Given the description of an element on the screen output the (x, y) to click on. 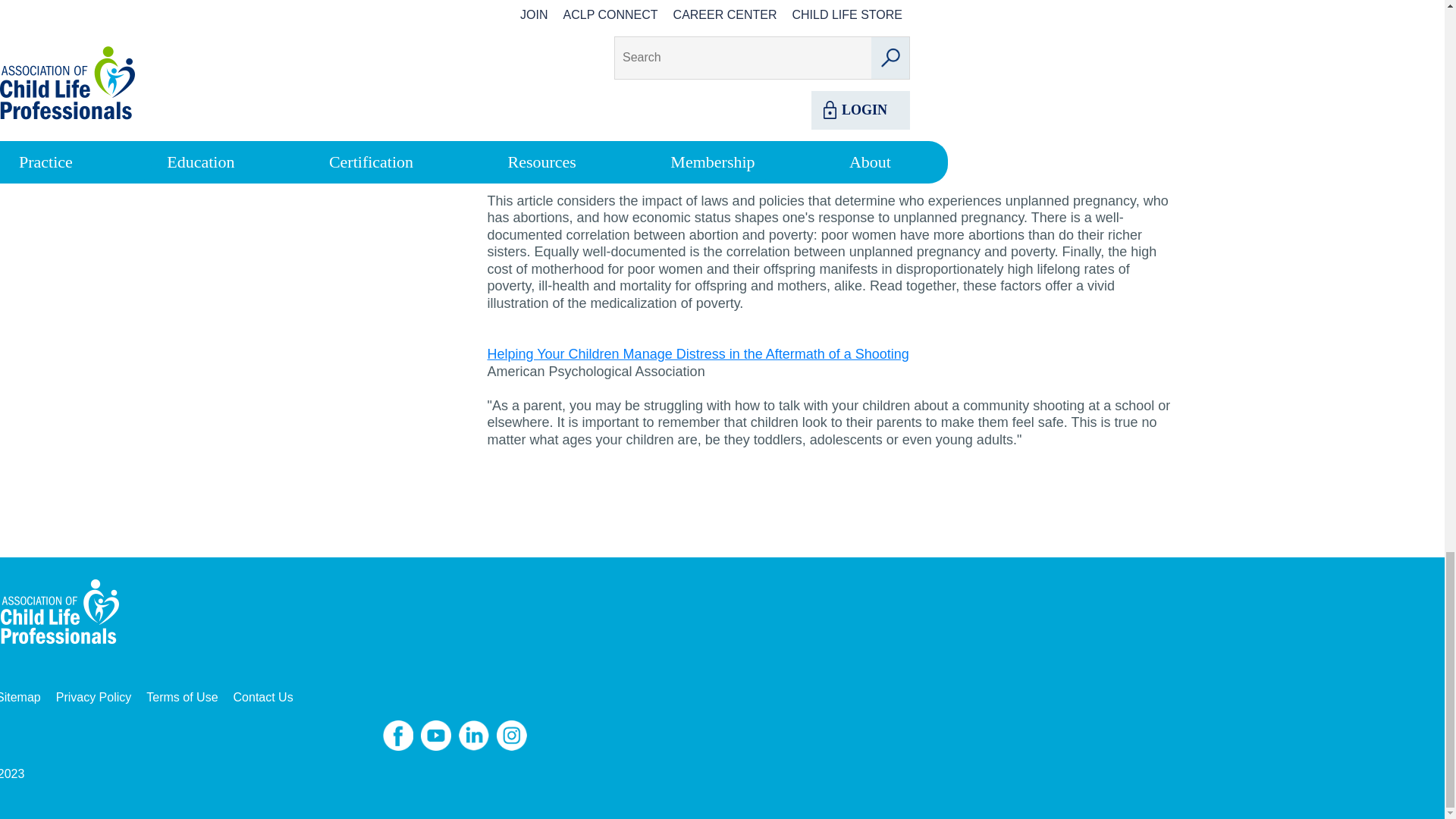
bgFootLogo (65, 613)
instagram (511, 735)
